Given the description of an element on the screen output the (x, y) to click on. 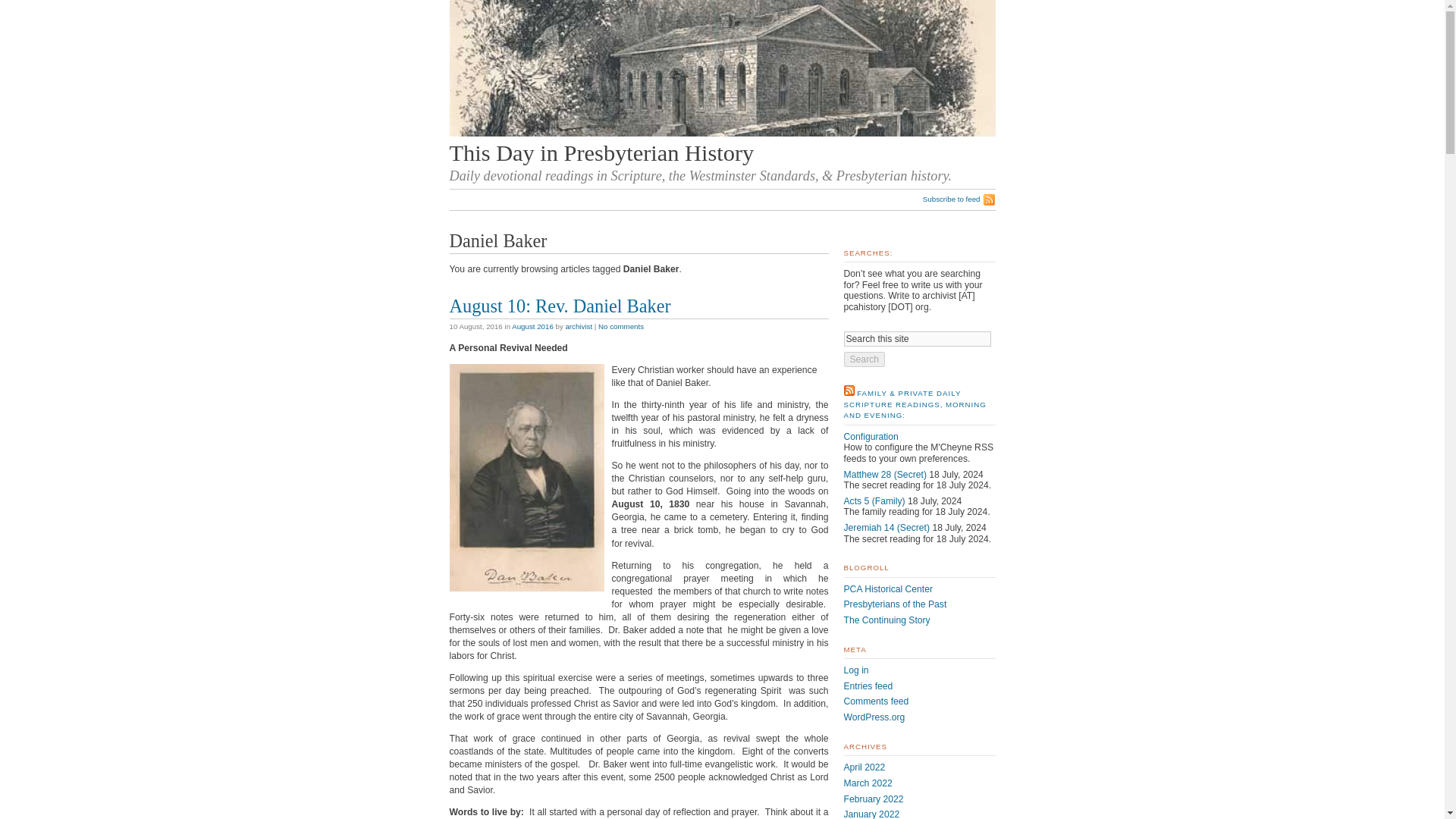
Permanent link to August 10: Rev. Daniel Baker (558, 305)
August 2016 (532, 326)
August 10: Rev. Daniel Baker (558, 305)
Return to main page (601, 153)
No comments (620, 326)
Search (864, 359)
Return to main page (721, 132)
Subscribe to feed (959, 199)
This Day in Presbyterian History (601, 153)
archivist (578, 326)
Articles by archivist (578, 326)
